Given the description of an element on the screen output the (x, y) to click on. 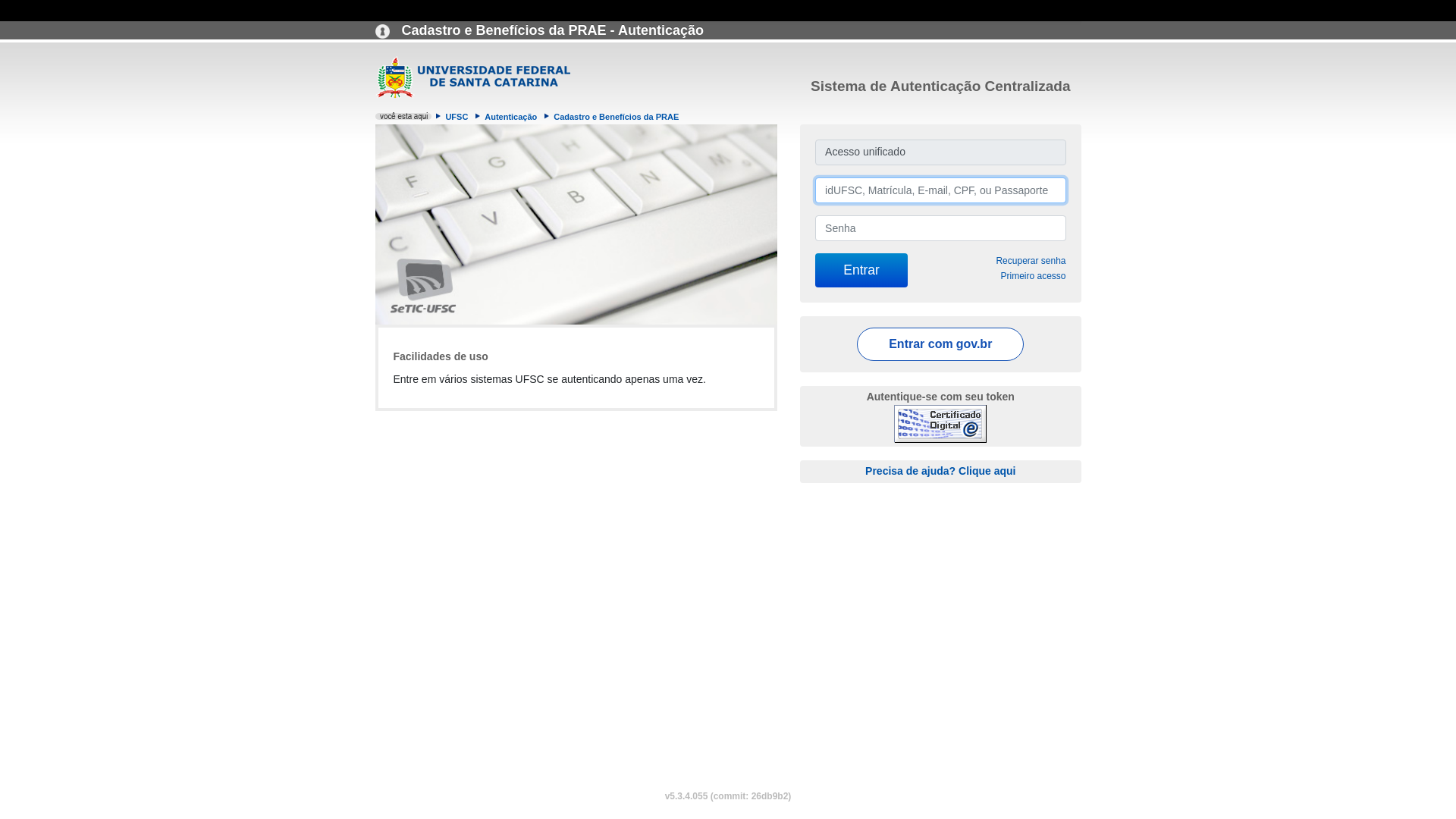
Entrar com
gov.br Element type: text (939, 343)
Precisa de ajuda? Clique aqui Element type: text (940, 470)
UFSC Element type: text (456, 116)
Entrar Element type: text (861, 270)
Recuperar senha Element type: text (1030, 260)
Primeiro acesso Element type: text (1032, 275)
